Given the description of an element on the screen output the (x, y) to click on. 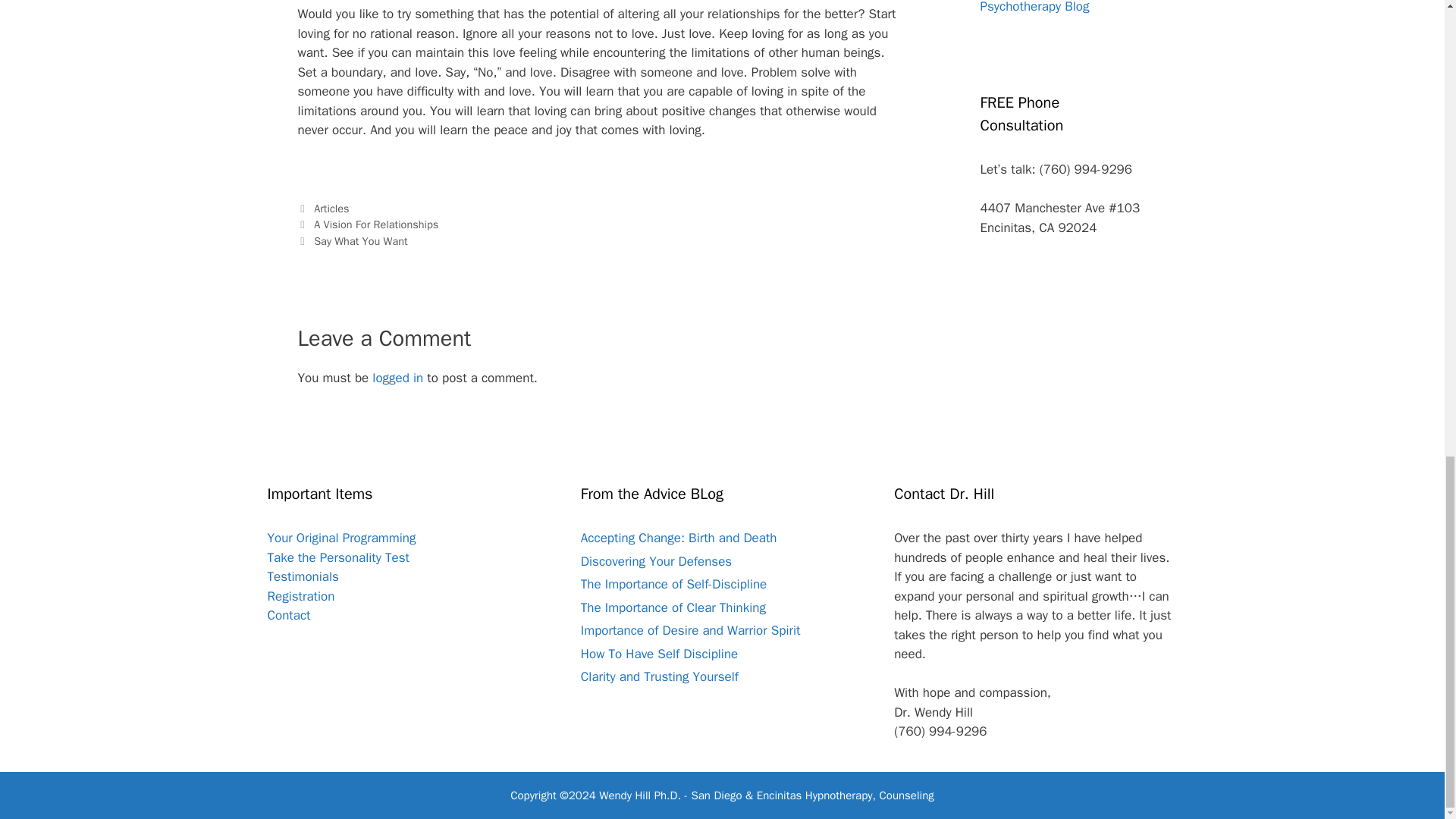
Scroll back to top (1406, 500)
